Given the description of an element on the screen output the (x, y) to click on. 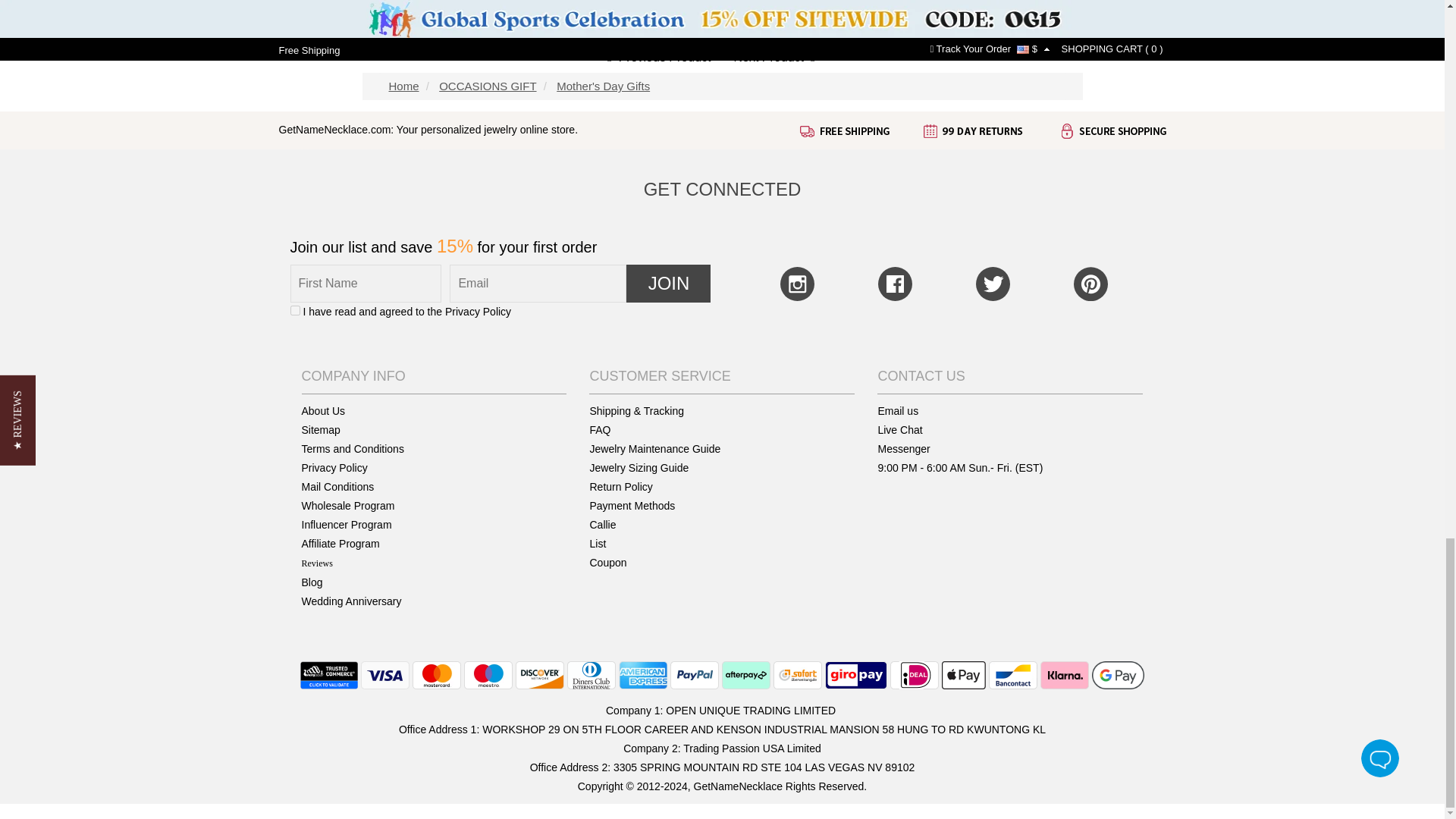
on (294, 310)
